Given the description of an element on the screen output the (x, y) to click on. 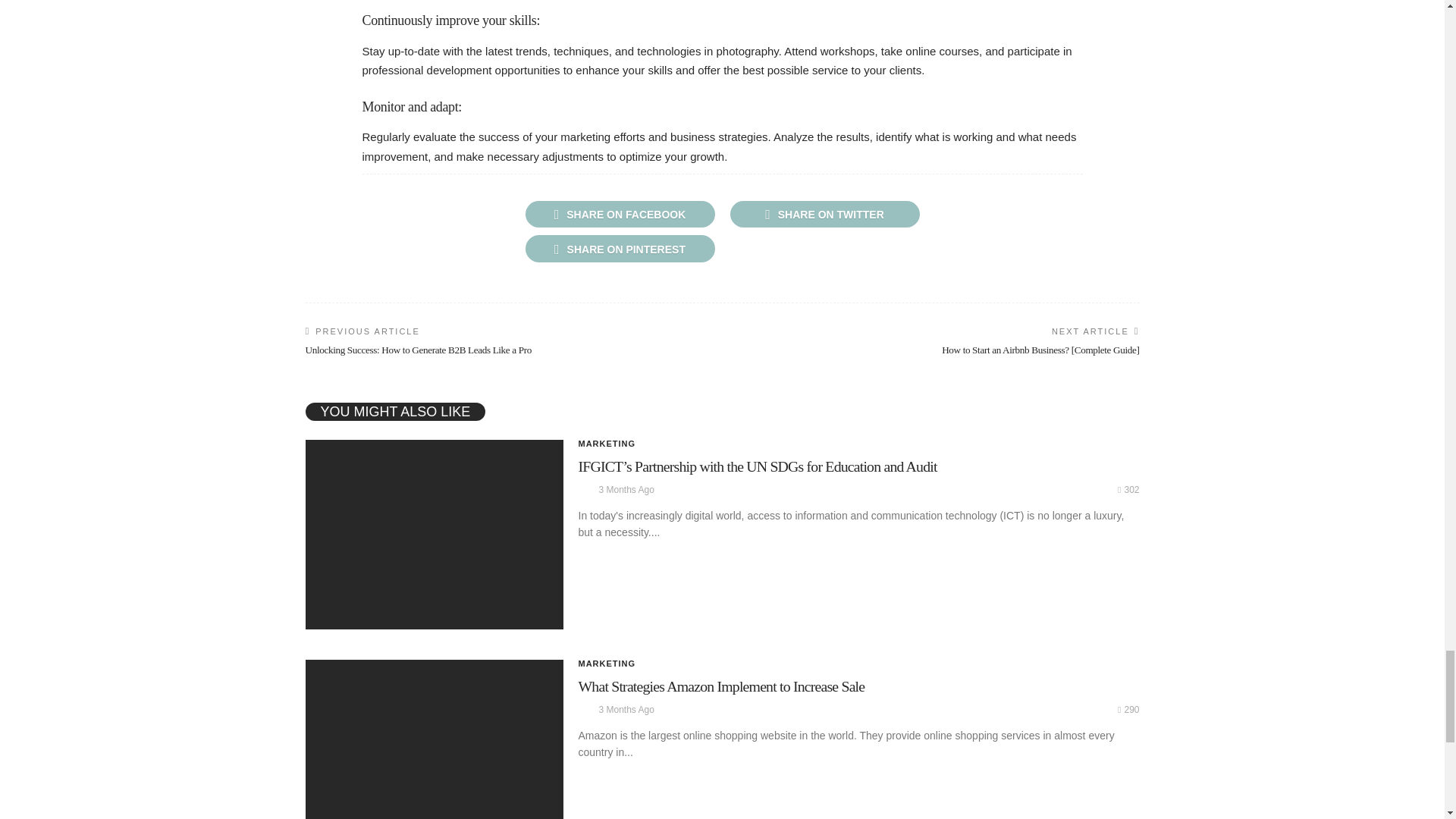
SHARE ON PINTEREST (619, 248)
SHARE ON TWITTER (823, 213)
SHARE ON FACEBOOK (619, 213)
Unlocking Success: How to Generate B2B Leads Like a Pro (417, 349)
